Given the description of an element on the screen output the (x, y) to click on. 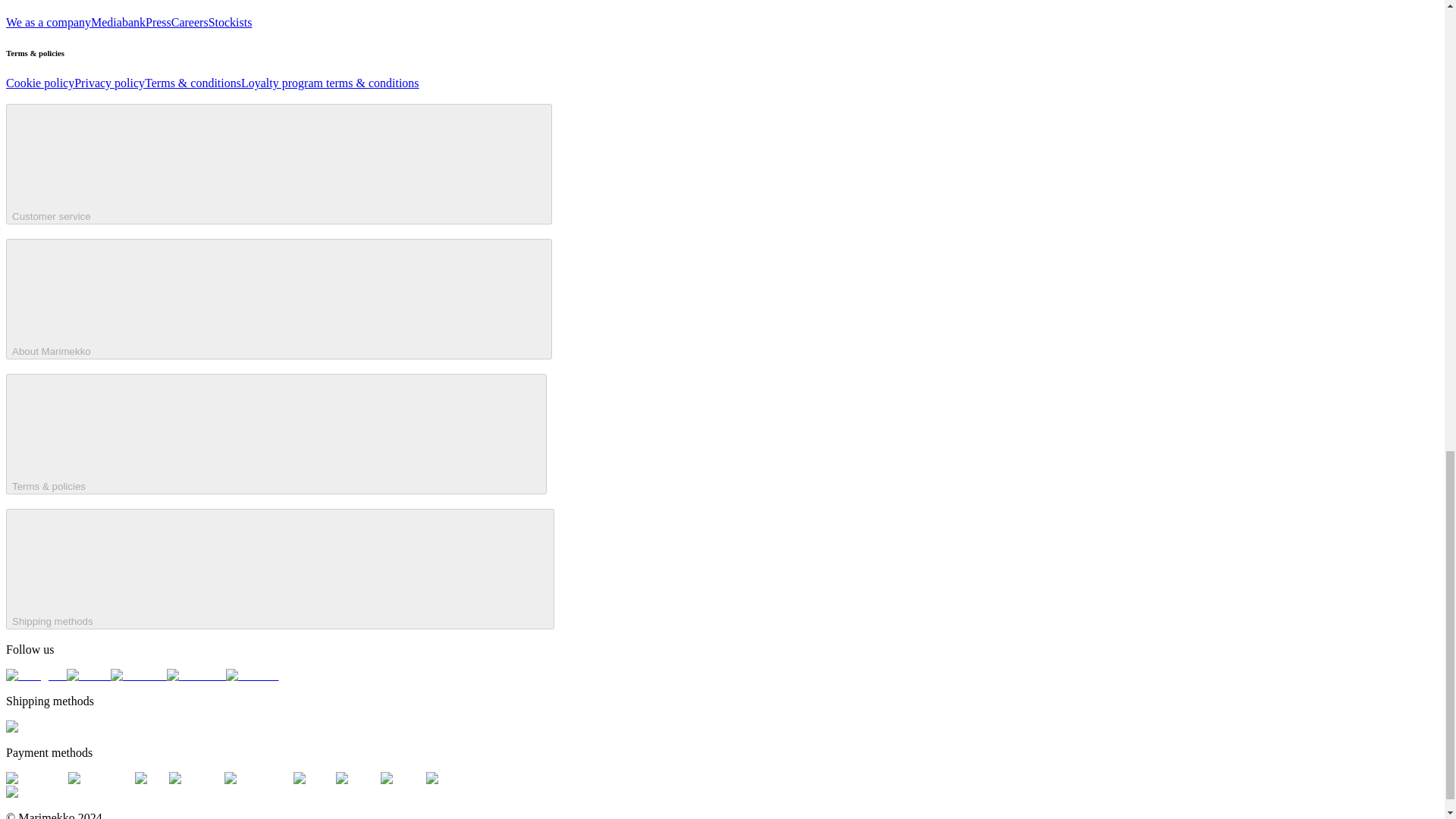
We as a company (47, 21)
Privacy policy (109, 82)
Careers (189, 21)
Customer service (278, 164)
Cookie policy (39, 82)
Stockists (229, 21)
Mediabank (117, 21)
Press (158, 21)
